Given the description of an element on the screen output the (x, y) to click on. 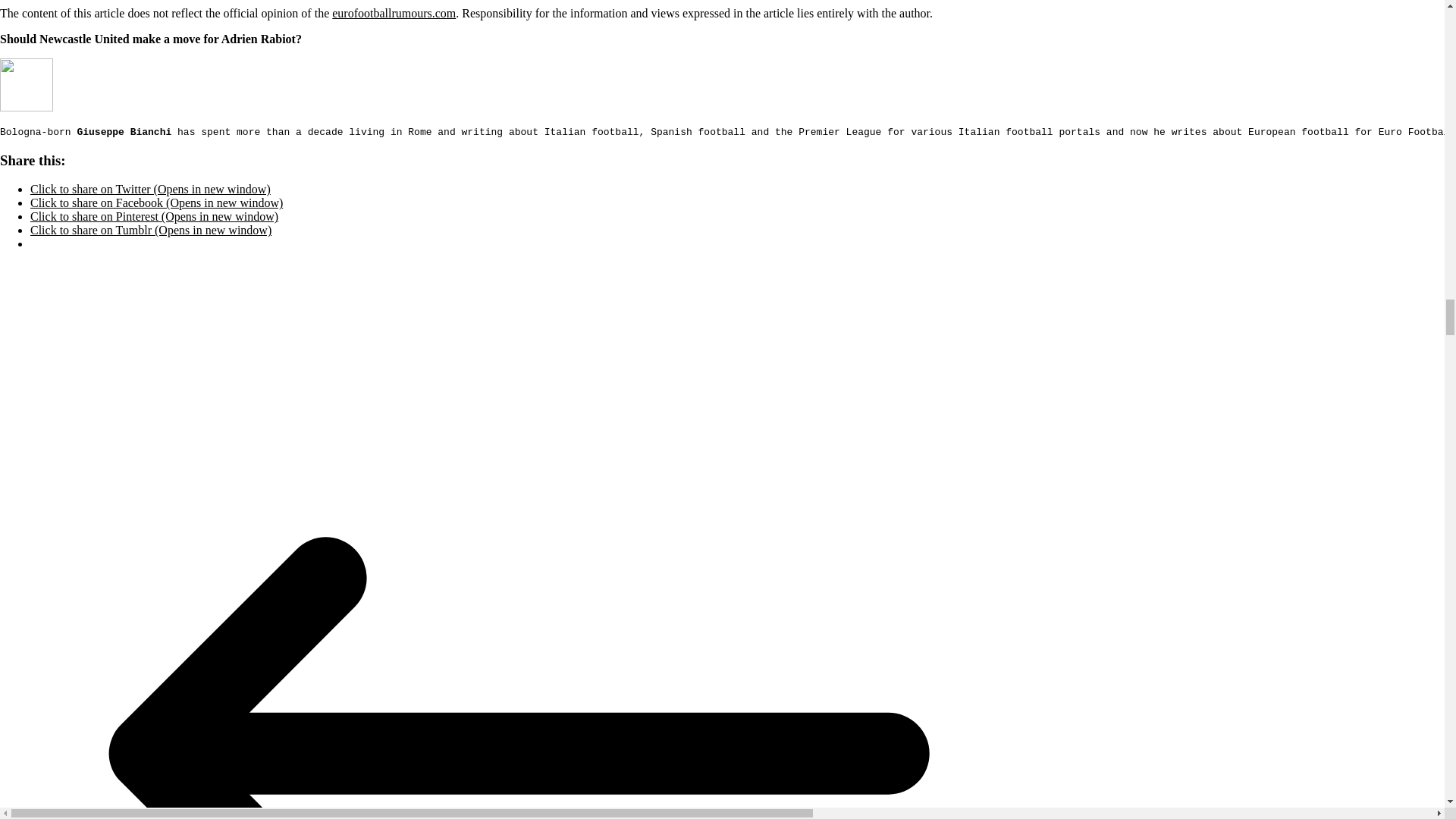
Click to share on Pinterest (154, 215)
Click to share on Twitter (150, 188)
Click to share on Tumblr (150, 229)
Click to share on Facebook (156, 202)
